Given the description of an element on the screen output the (x, y) to click on. 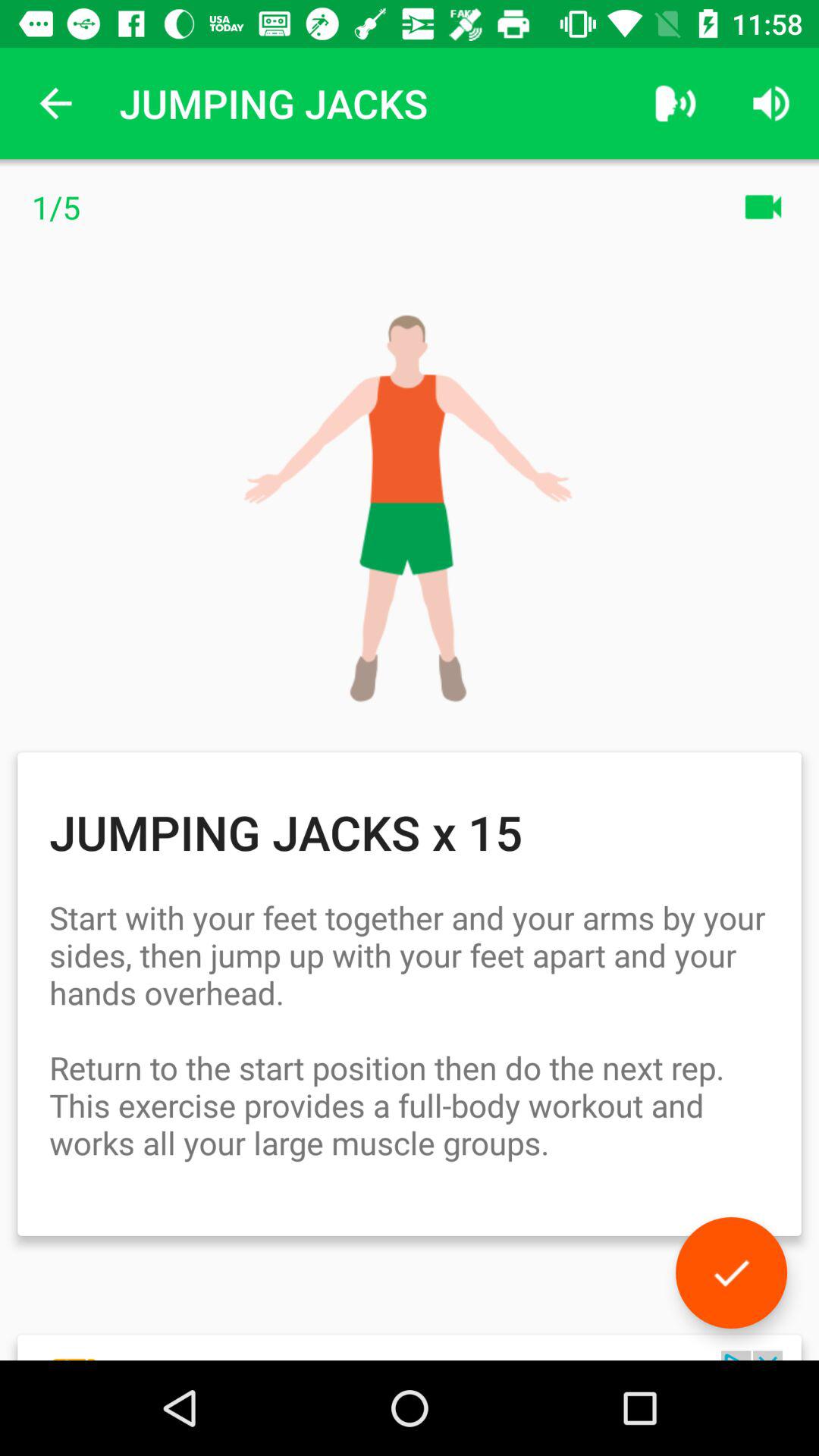
turn on the app next to jumping jacks item (675, 103)
